Given the description of an element on the screen output the (x, y) to click on. 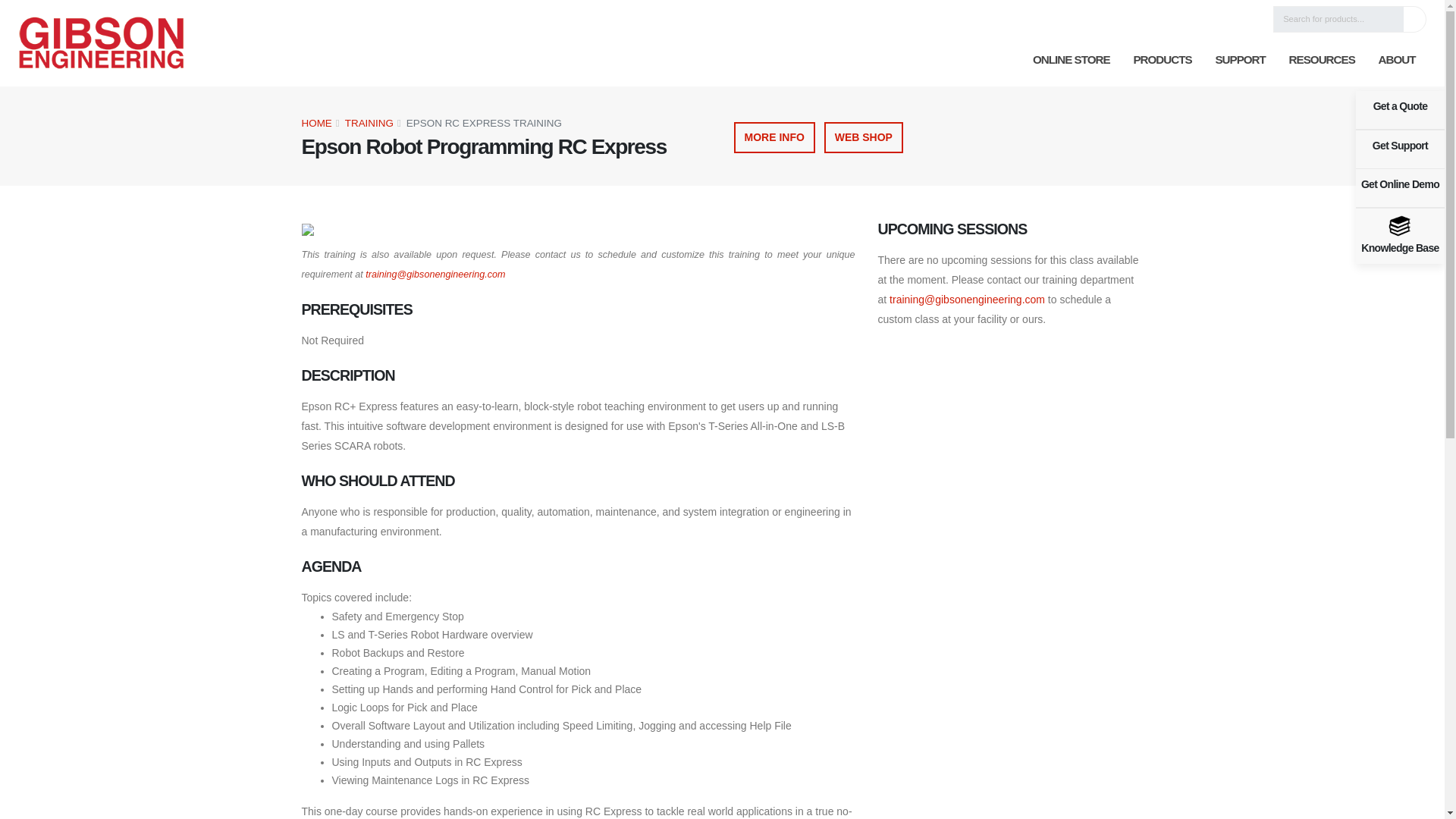
ONLINE STORE (1070, 59)
Knowledge Base (1399, 235)
SUPPORT (1240, 59)
ABOUT (1396, 59)
Get Support (1399, 149)
Get Online Demo (1399, 187)
TRAINING (369, 122)
PRODUCTS (1162, 59)
HOME (316, 122)
MORE INFO (774, 137)
